Given the description of an element on the screen output the (x, y) to click on. 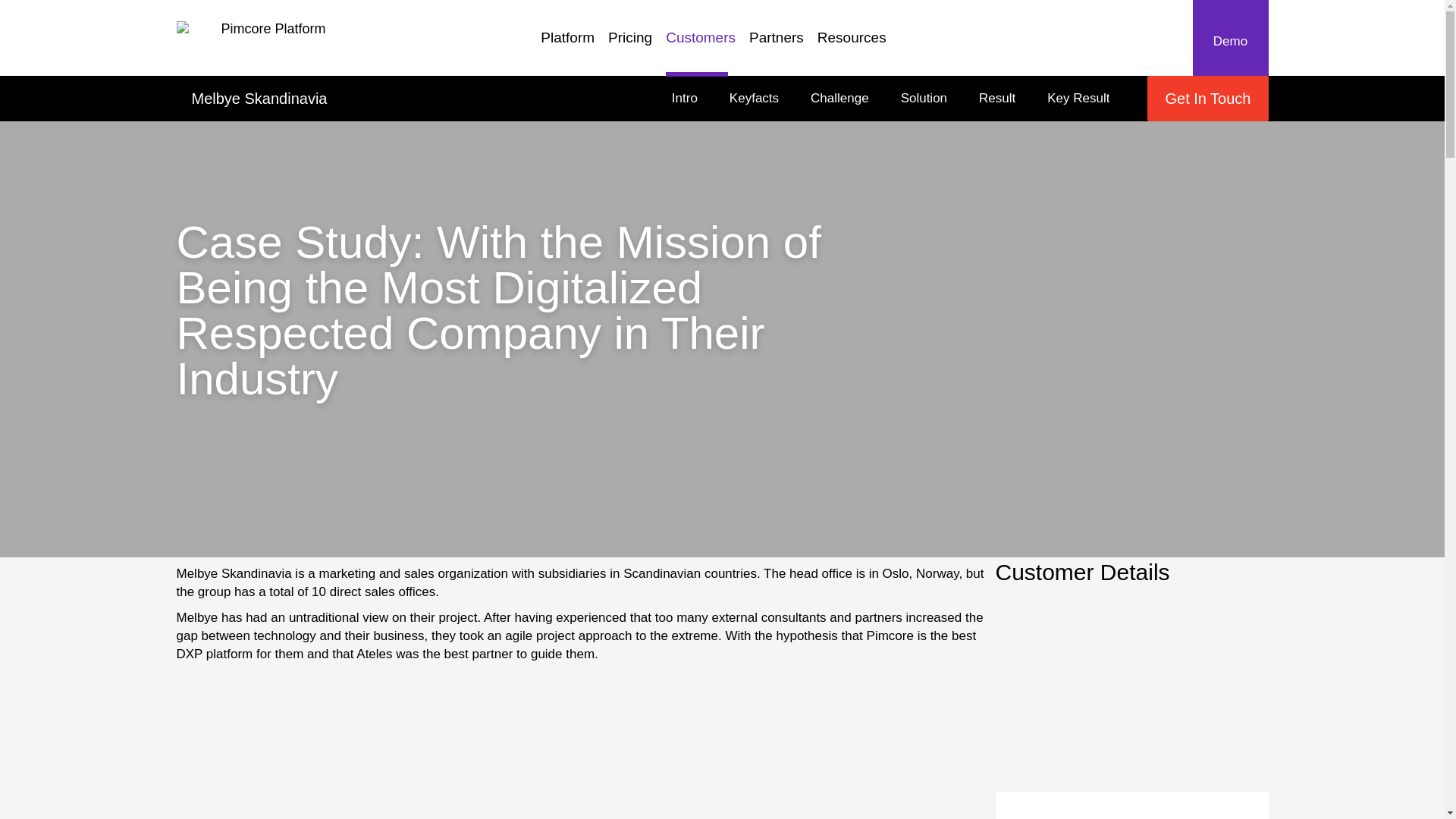
Solution (924, 99)
Platform (890, 99)
Pricing (574, 44)
Keyfacts (636, 44)
Partners (753, 99)
Key Result (782, 44)
Challenge (1077, 99)
